Given the description of an element on the screen output the (x, y) to click on. 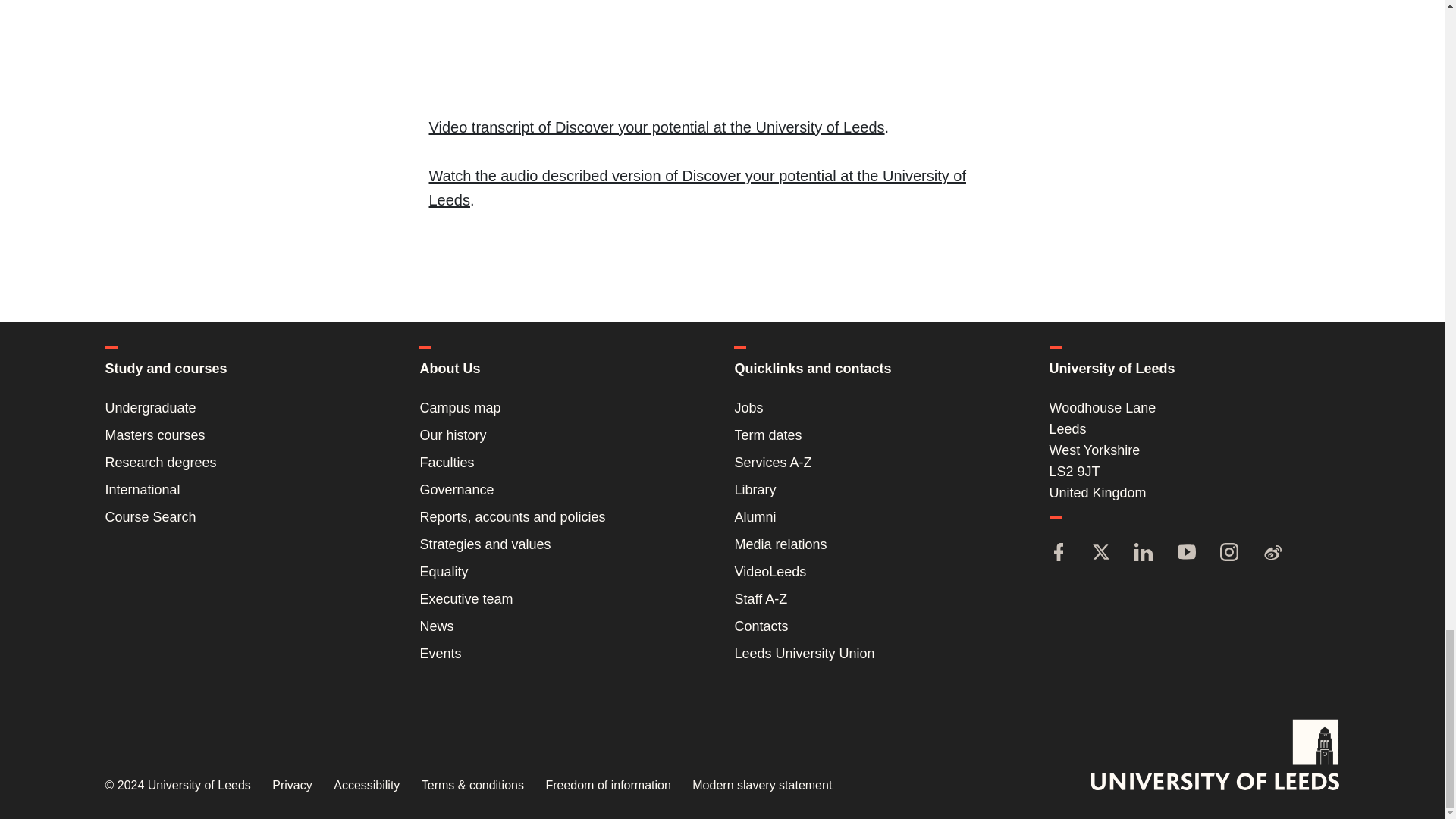
Go to Freedom of information page (606, 784)
Go to Modern slavery statement page (762, 784)
Go to Privacy page (291, 784)
Go to Accessibility page (365, 784)
